Given the description of an element on the screen output the (x, y) to click on. 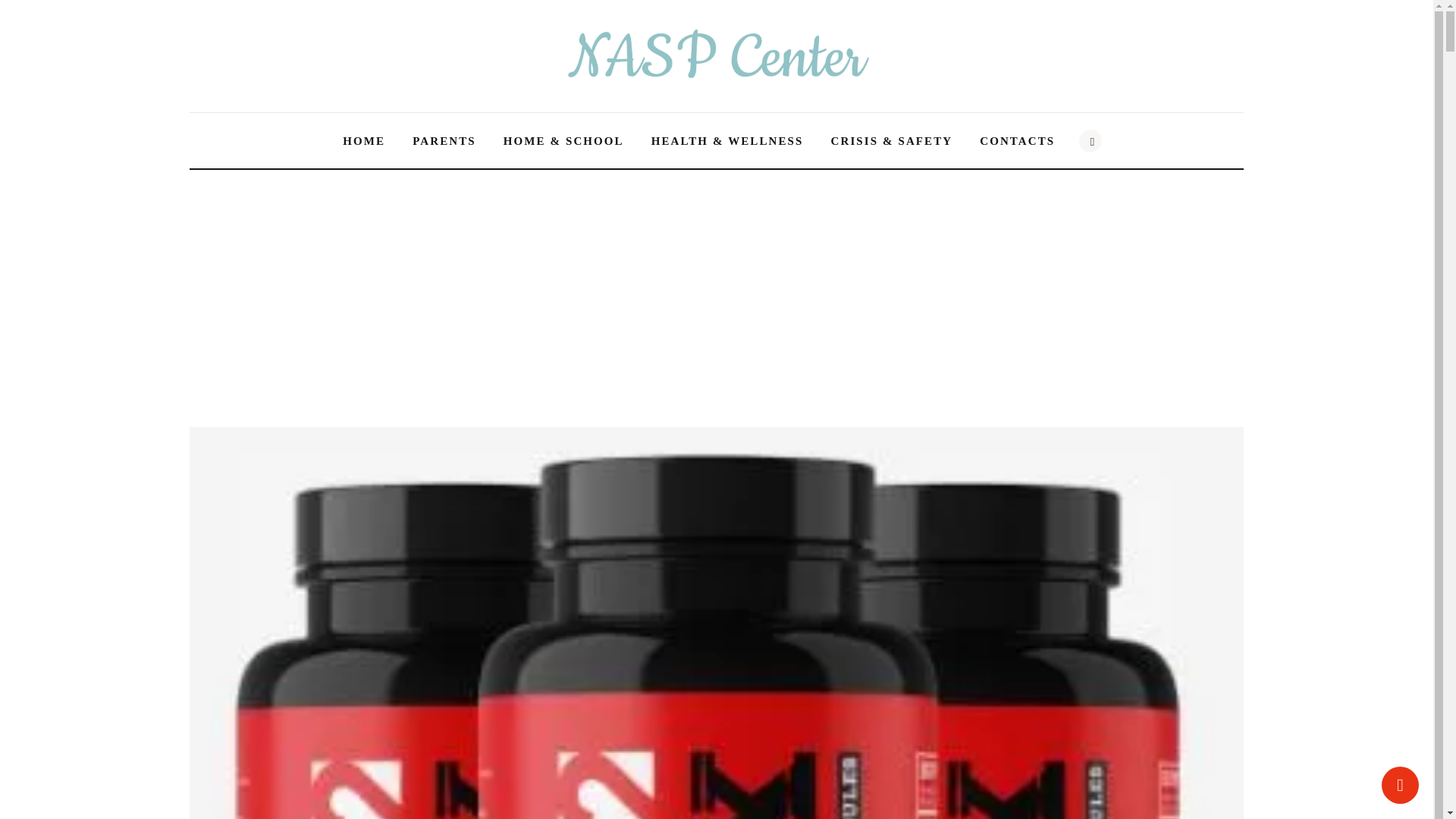
HOME (363, 141)
PARENTS (443, 141)
CONTACTS (1017, 141)
